Given the description of an element on the screen output the (x, y) to click on. 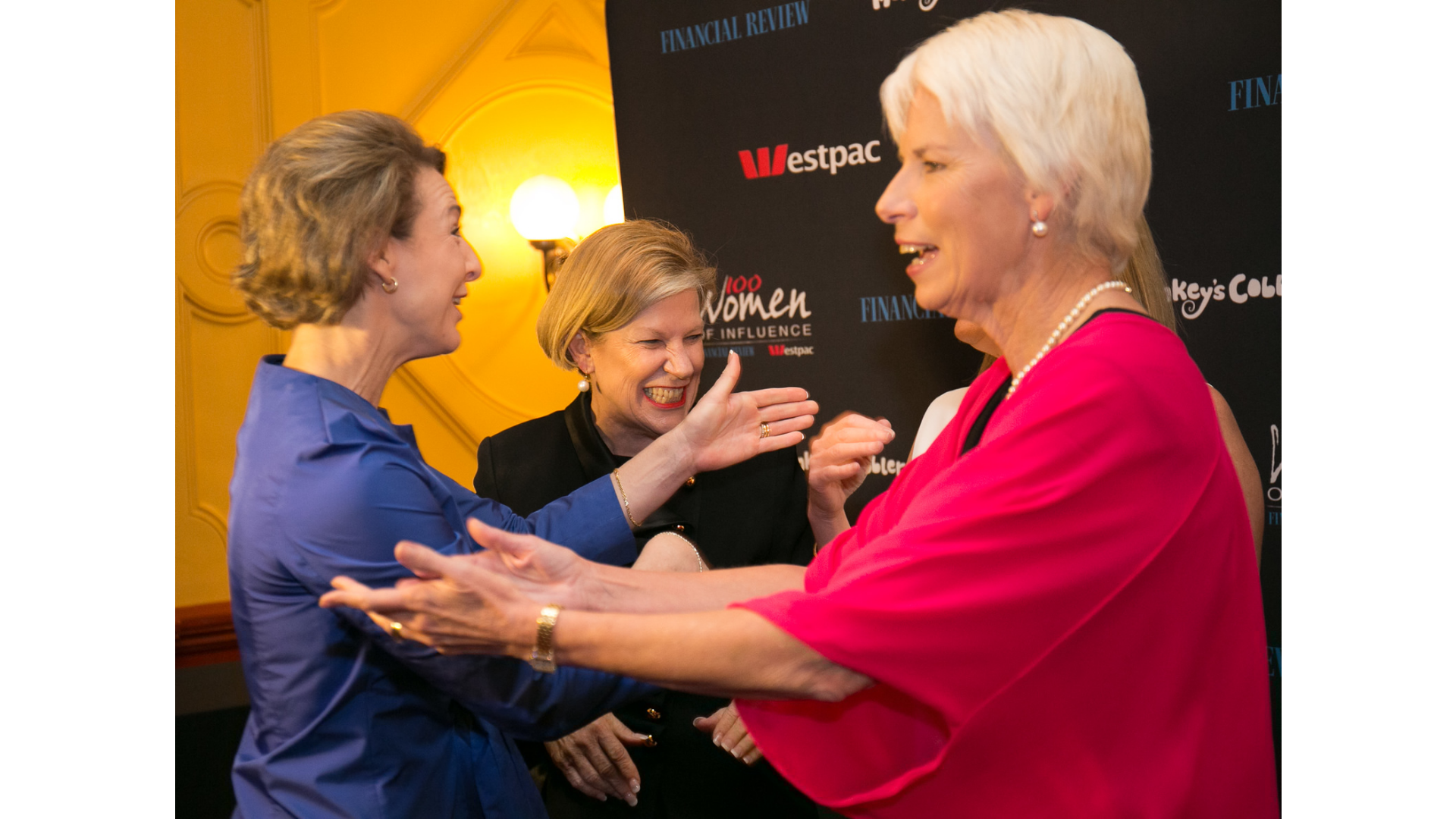
Events Element type: text (52, 285)
HOME Element type: text (641, 171)
EVENTS Element type: text (693, 171)
Download All Element type: hover (1428, 242)
CONTACT Element type: text (755, 171)
Owner Log In Element type: text (1419, 315)
Powered by SmugMug Element type: text (1336, 315)
LOGIN Element type: text (813, 171)
